Given the description of an element on the screen output the (x, y) to click on. 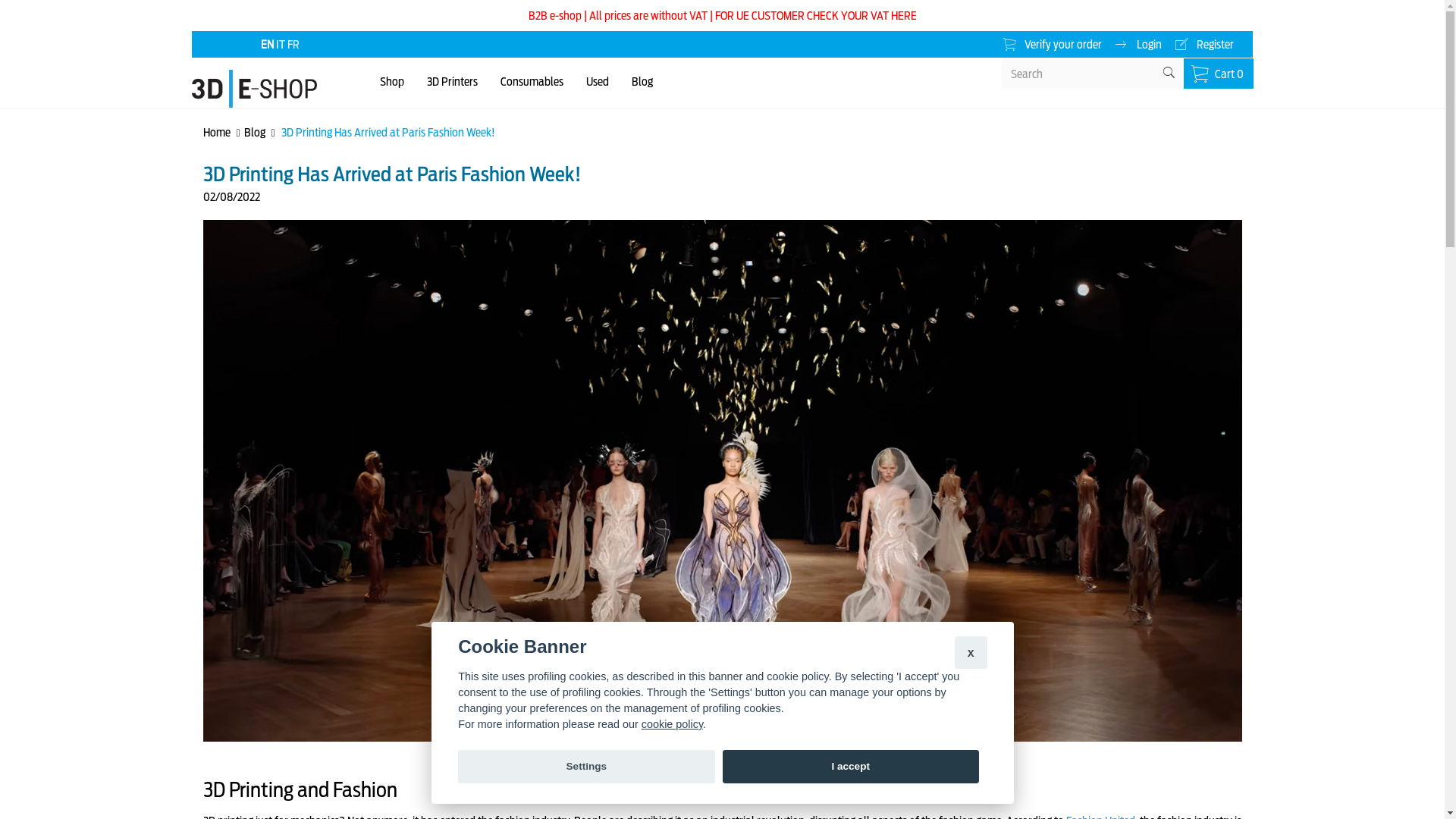
Register Element type: text (1210, 43)
cookie policy Element type: text (671, 724)
EN Element type: text (268, 43)
Home Element type: text (216, 131)
Shop Element type: text (391, 81)
3D Printers Element type: text (452, 81)
Login Element type: text (1144, 43)
Blog Element type: text (254, 131)
IT Element type: text (281, 43)
FR Element type: text (293, 43)
Blog Element type: text (642, 81)
Consumables Element type: text (531, 81)
I accept Element type: text (849, 766)
Used Element type: text (597, 81)
3DE-SHOP.COM Element type: text (456, 44)
Settings Element type: text (586, 766)
x Element type: text (969, 652)
3DE-SHOP Element type: hover (253, 81)
Verify your order Element type: text (1058, 43)
